Given the description of an element on the screen output the (x, y) to click on. 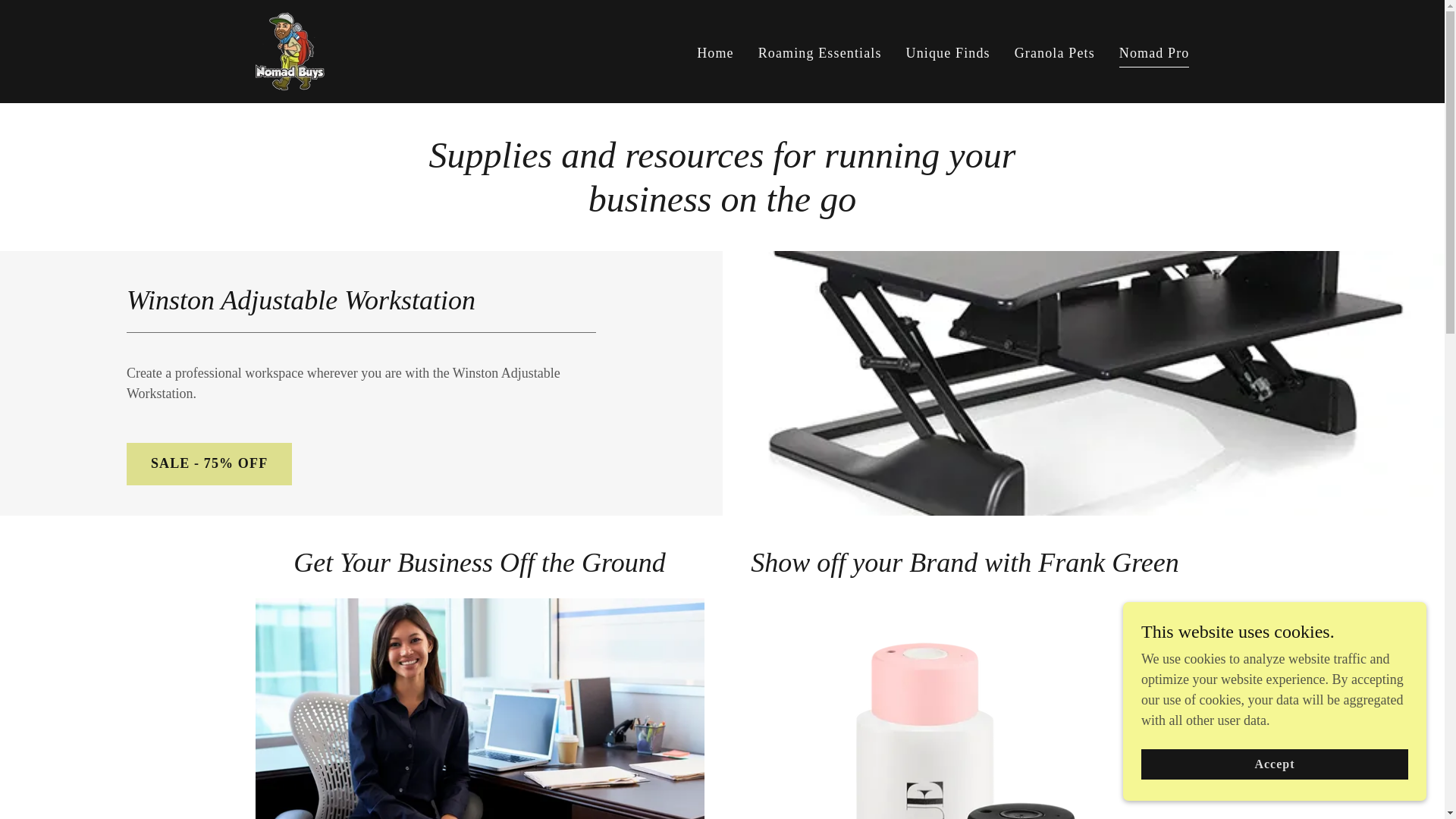
Home (715, 52)
Nomad Pro (1154, 55)
Granola Pets (1054, 52)
Roaming Essentials (820, 52)
Accept (1274, 764)
Unique Finds (947, 52)
